Given the description of an element on the screen output the (x, y) to click on. 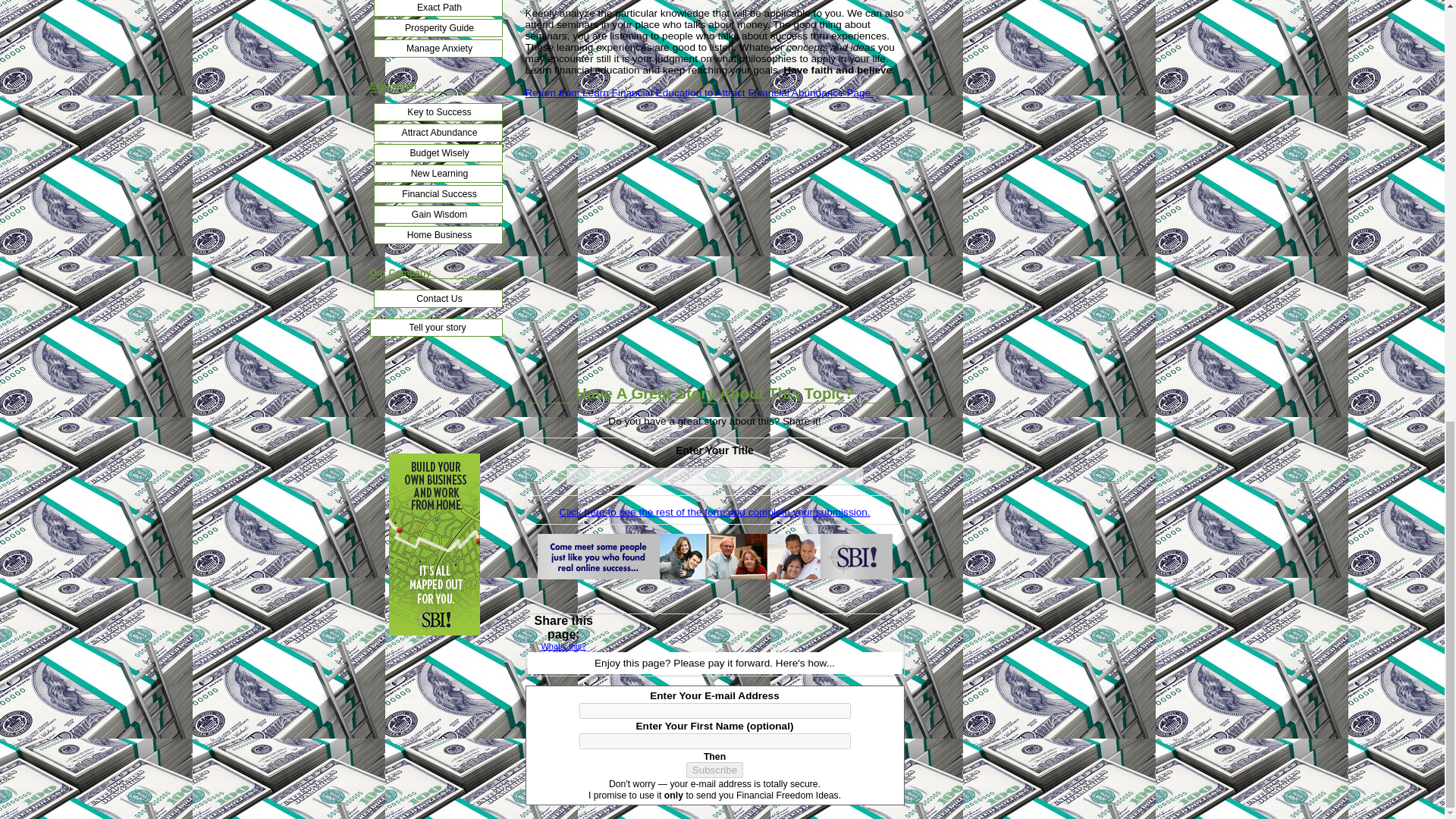
Gain Wisdom (437, 214)
Attract Abundance (437, 132)
New Learning (437, 173)
Home Business (437, 235)
Key to Success (437, 112)
Budget Wisely (437, 153)
Prosperity Guide (437, 27)
Exact Path (437, 8)
Manage Anxiety (437, 48)
